Given the description of an element on the screen output the (x, y) to click on. 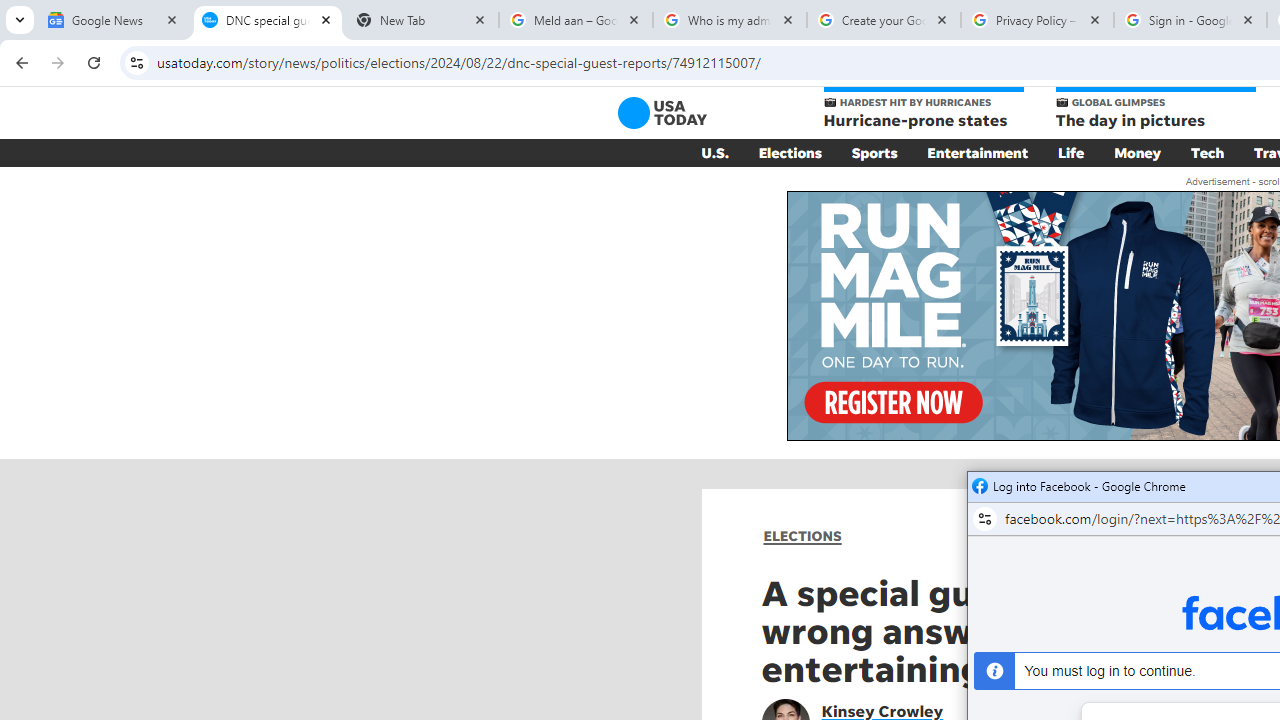
New Tab (421, 20)
Money (1137, 152)
Who is my administrator? - Google Account Help (729, 20)
Create your Google Account (883, 20)
Life (1071, 152)
